Given the description of an element on the screen output the (x, y) to click on. 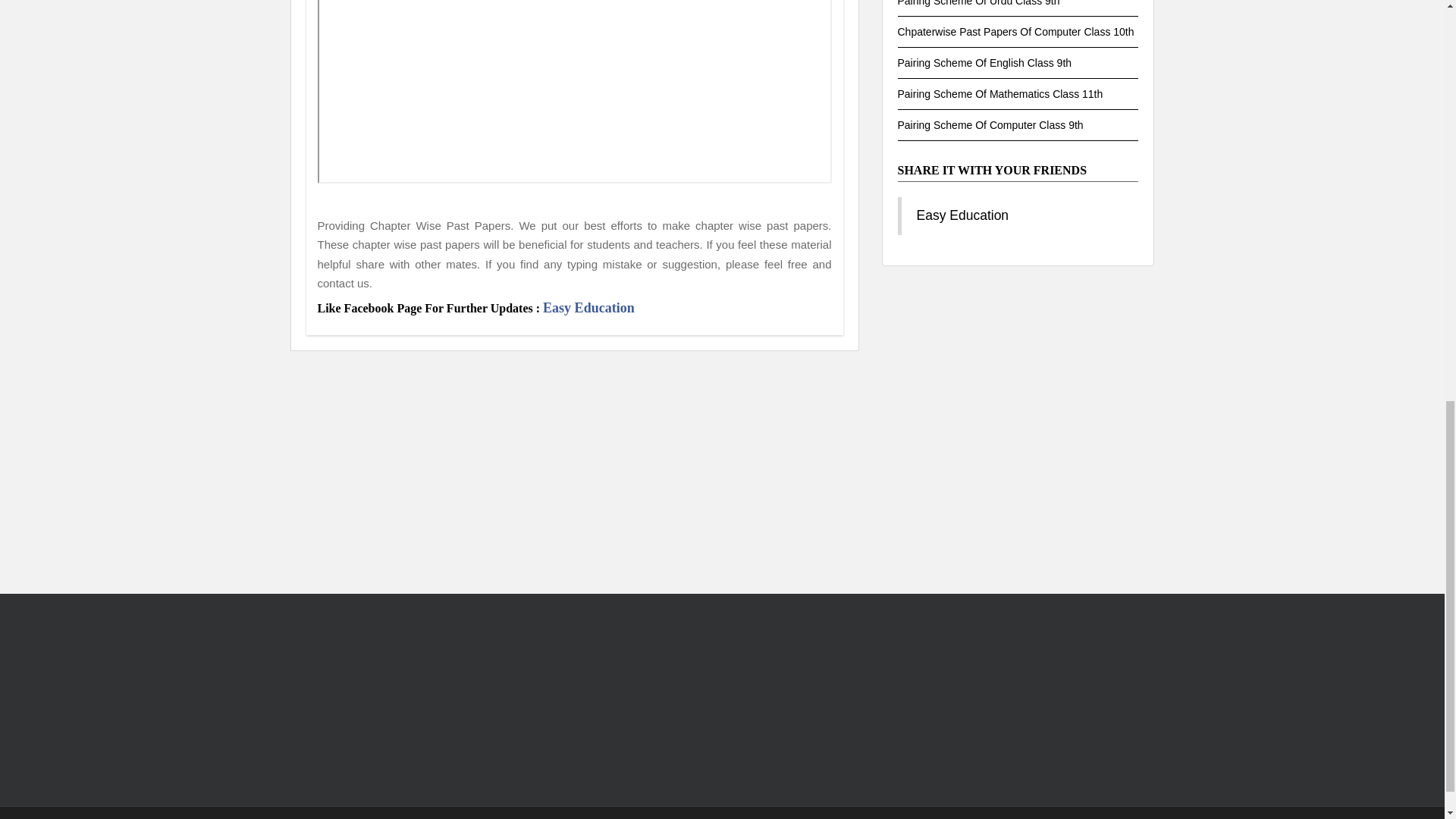
Easy Education (588, 307)
